Given the description of an element on the screen output the (x, y) to click on. 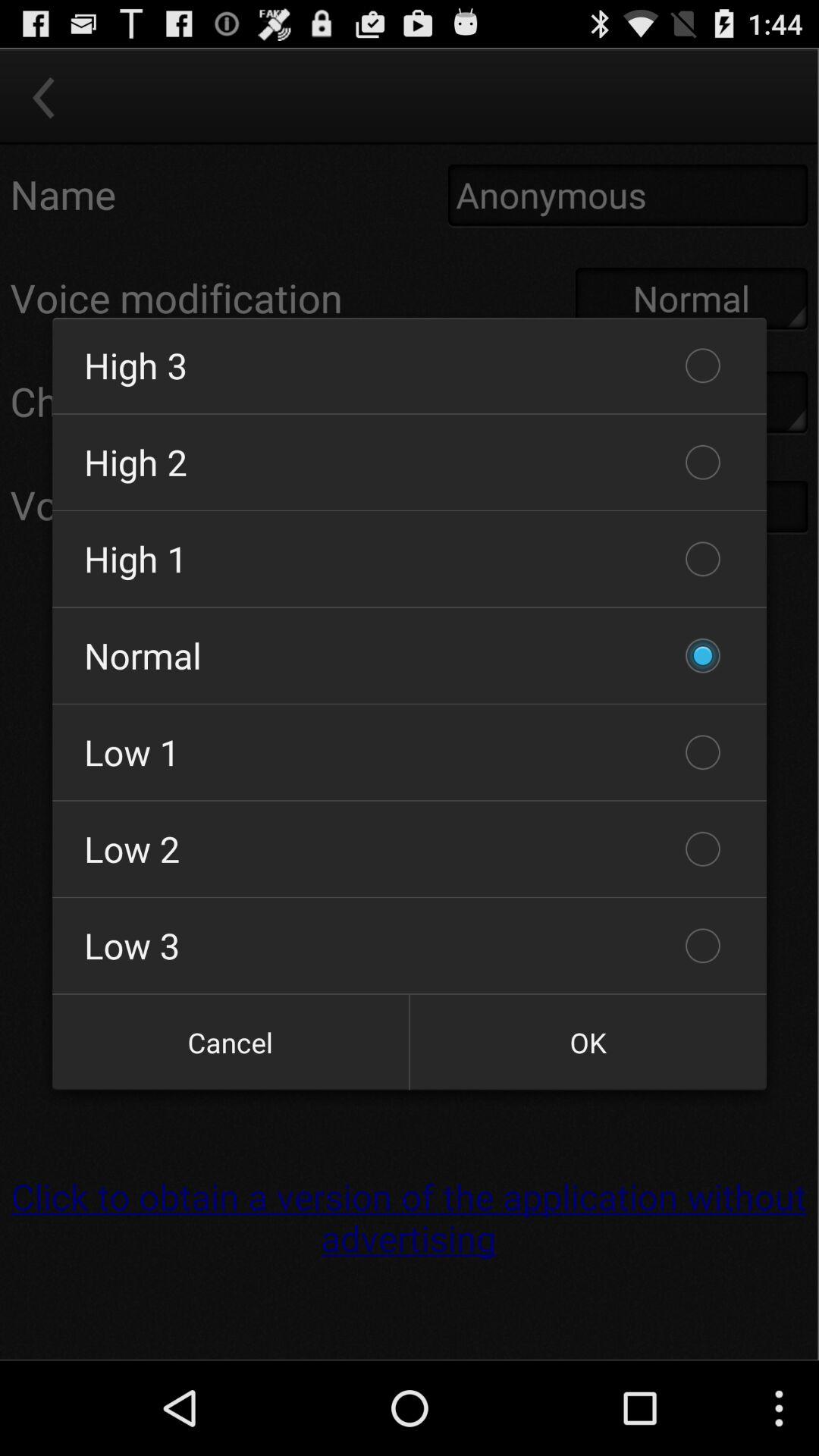
flip to cancel icon (230, 1042)
